Given the description of an element on the screen output the (x, y) to click on. 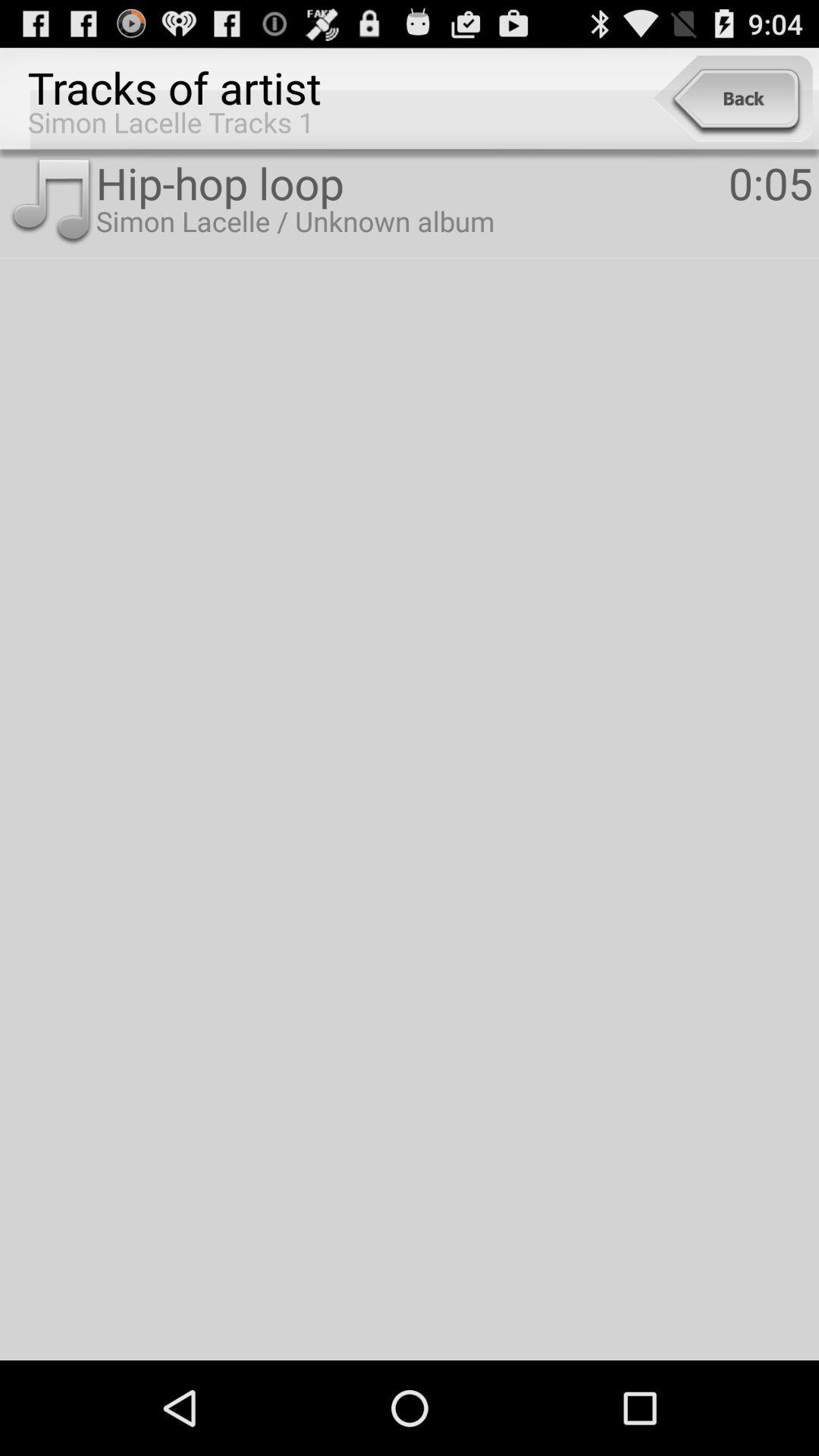
select item below simon lacelle tracks item (51, 201)
